Given the description of an element on the screen output the (x, y) to click on. 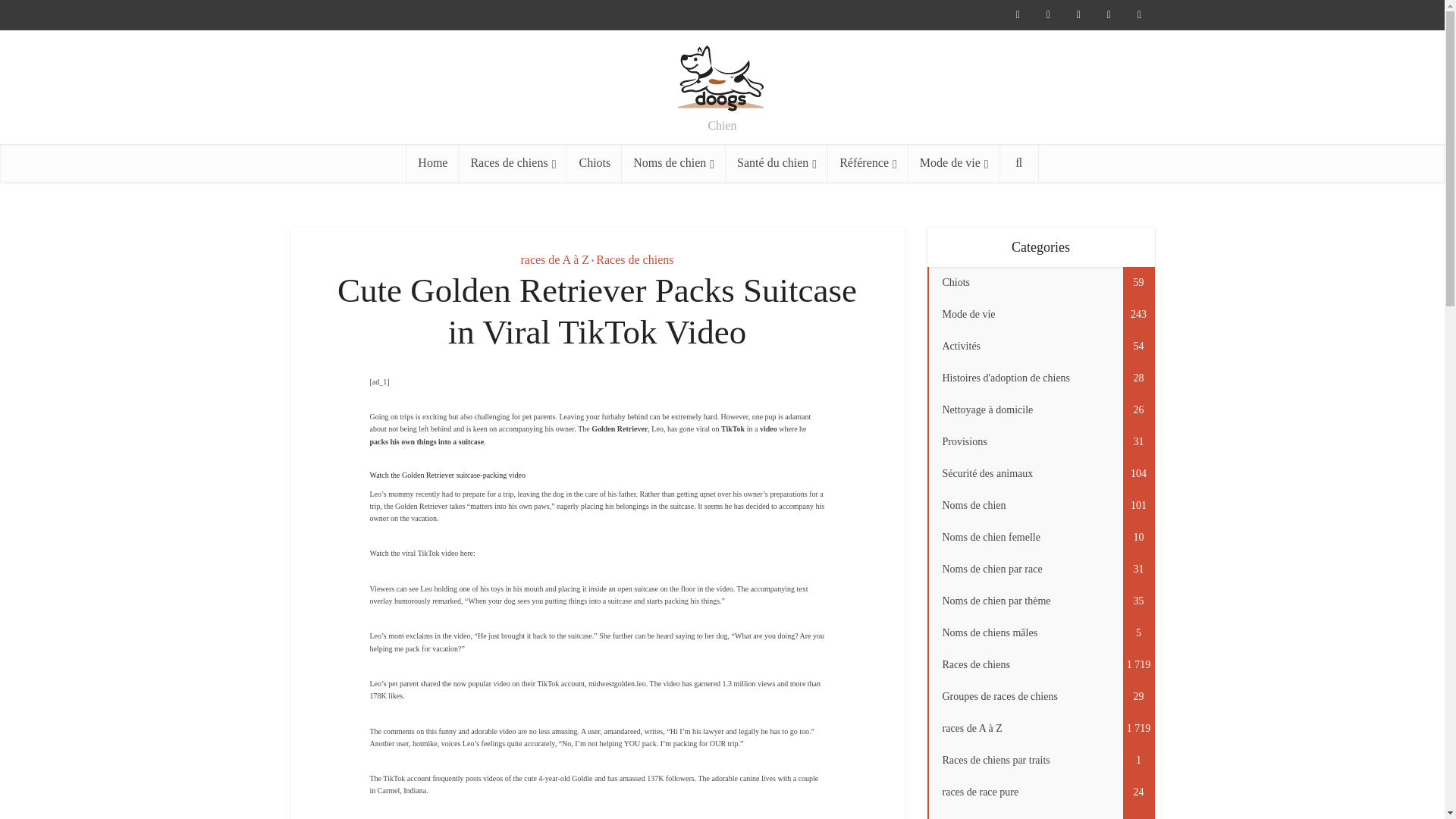
Chiots (594, 162)
Home (432, 162)
Noms de chien (673, 162)
Races de chiens (512, 162)
